Given the description of an element on the screen output the (x, y) to click on. 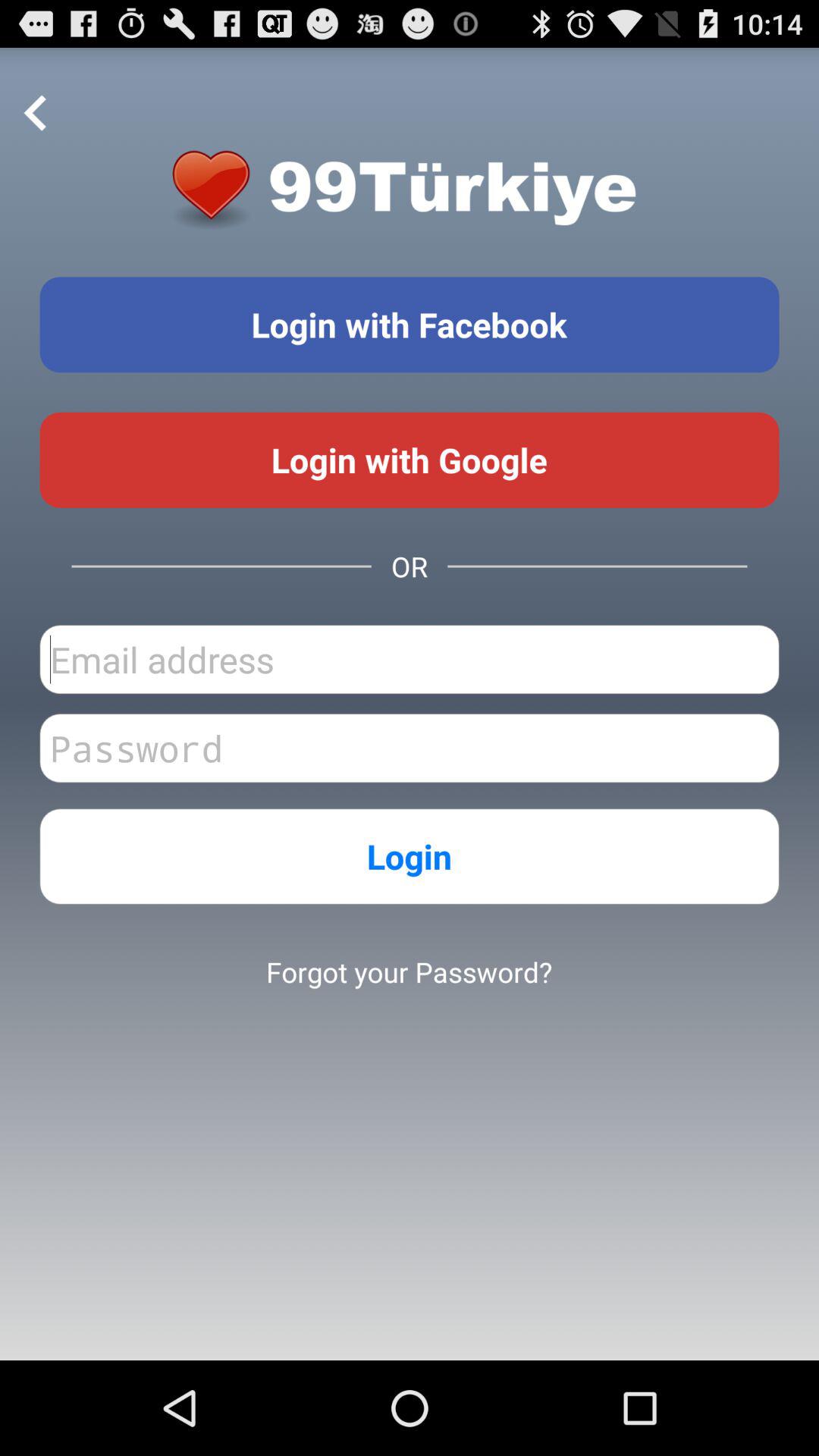
go back one page (35, 113)
